Given the description of an element on the screen output the (x, y) to click on. 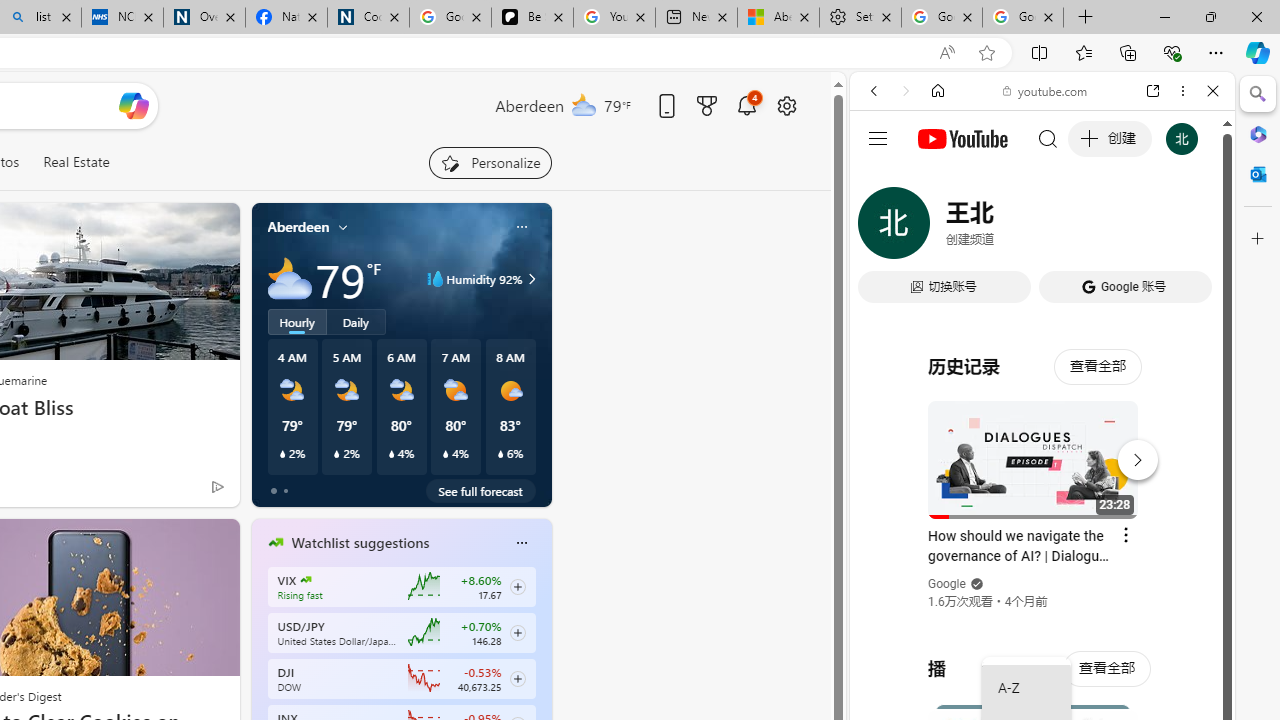
A-Z (1026, 688)
Search Filter, VIDEOS (1006, 228)
tab-0 (273, 490)
Show More Music (1164, 546)
#you (1042, 445)
Google (1042, 494)
Class: weather-current-precipitation-glyph (500, 453)
Forward (906, 91)
You're following FOX News (175, 490)
Trailer #2 [HD] (1042, 594)
